Given the description of an element on the screen output the (x, y) to click on. 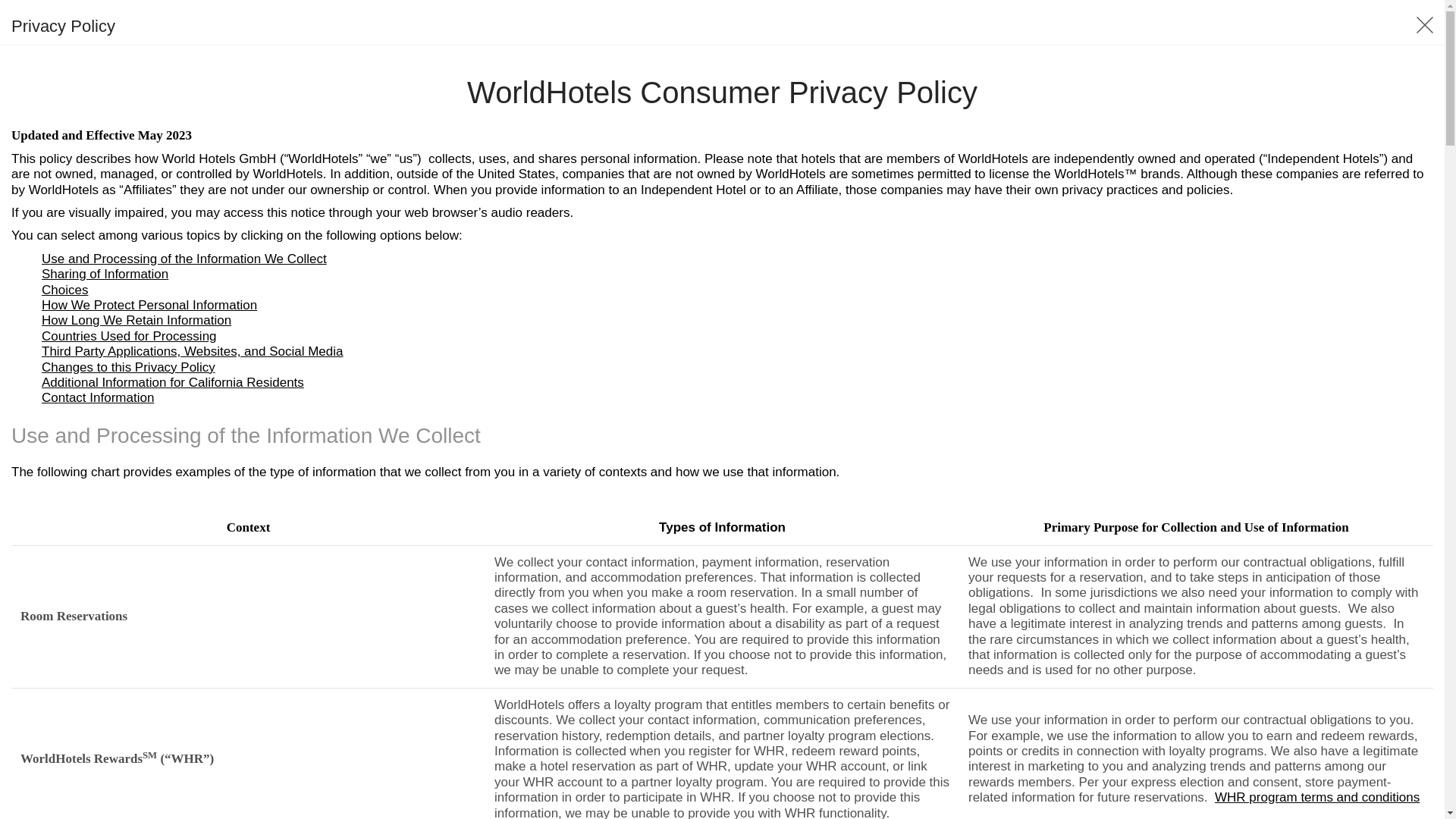
Choices (64, 289)
Countries Used for Processing (129, 336)
WHR program terms and conditions (1316, 797)
Additional Information for California Residents (173, 382)
Third Party Applications, Websites, and Social Media (192, 350)
Use and Processing of the Information We Collect (184, 258)
Changes to this Privacy Policy (128, 366)
Sharing of Information (105, 273)
How Long We Retain Information (136, 319)
Contact Information (98, 397)
